Given the description of an element on the screen output the (x, y) to click on. 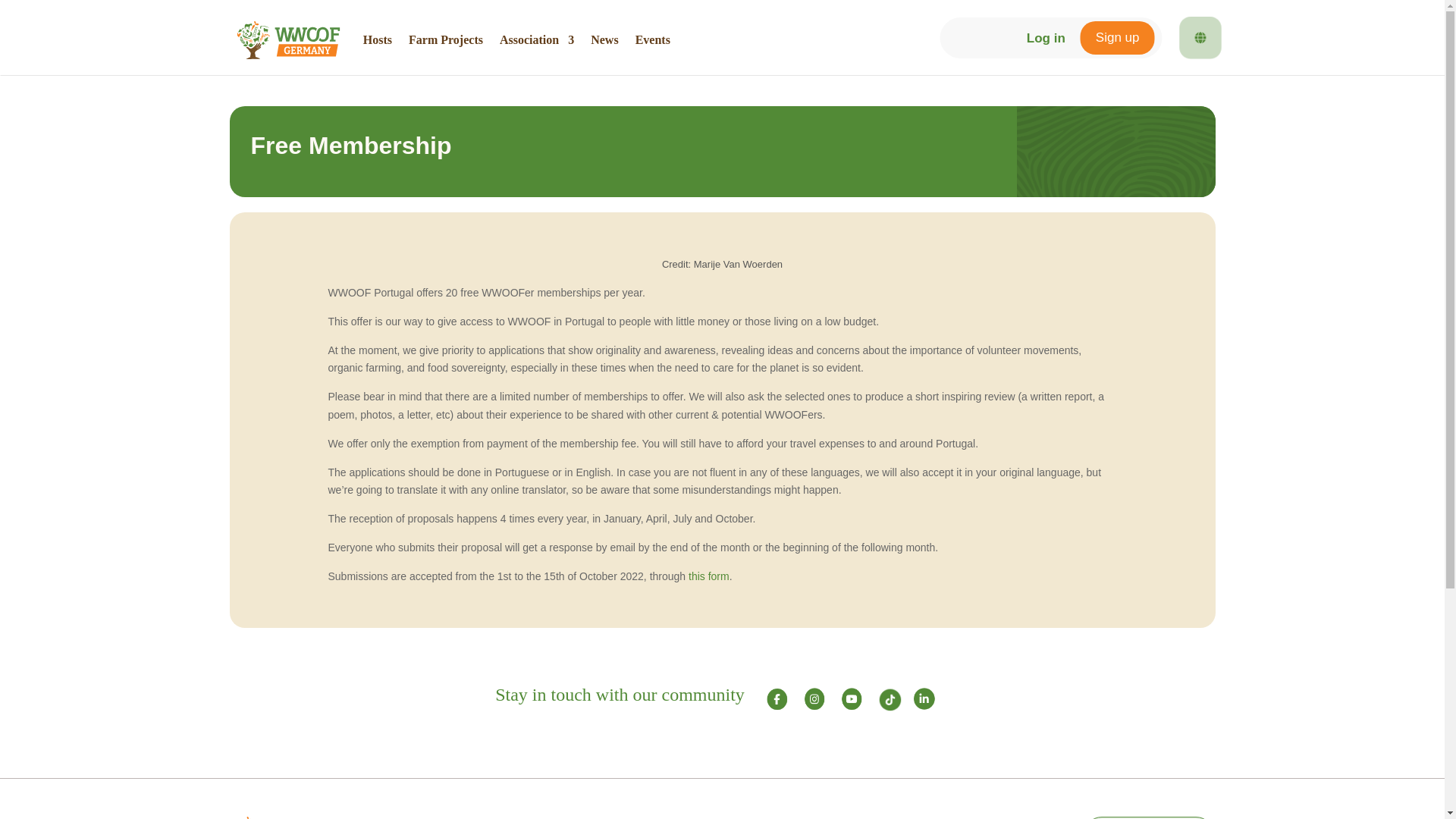
instagram (815, 698)
logoDE (279, 817)
youtube (851, 698)
facebook (778, 698)
Farm Projects (446, 39)
linkidin (925, 698)
Language (1199, 37)
Association (536, 39)
TikTok (889, 698)
